Given the description of an element on the screen output the (x, y) to click on. 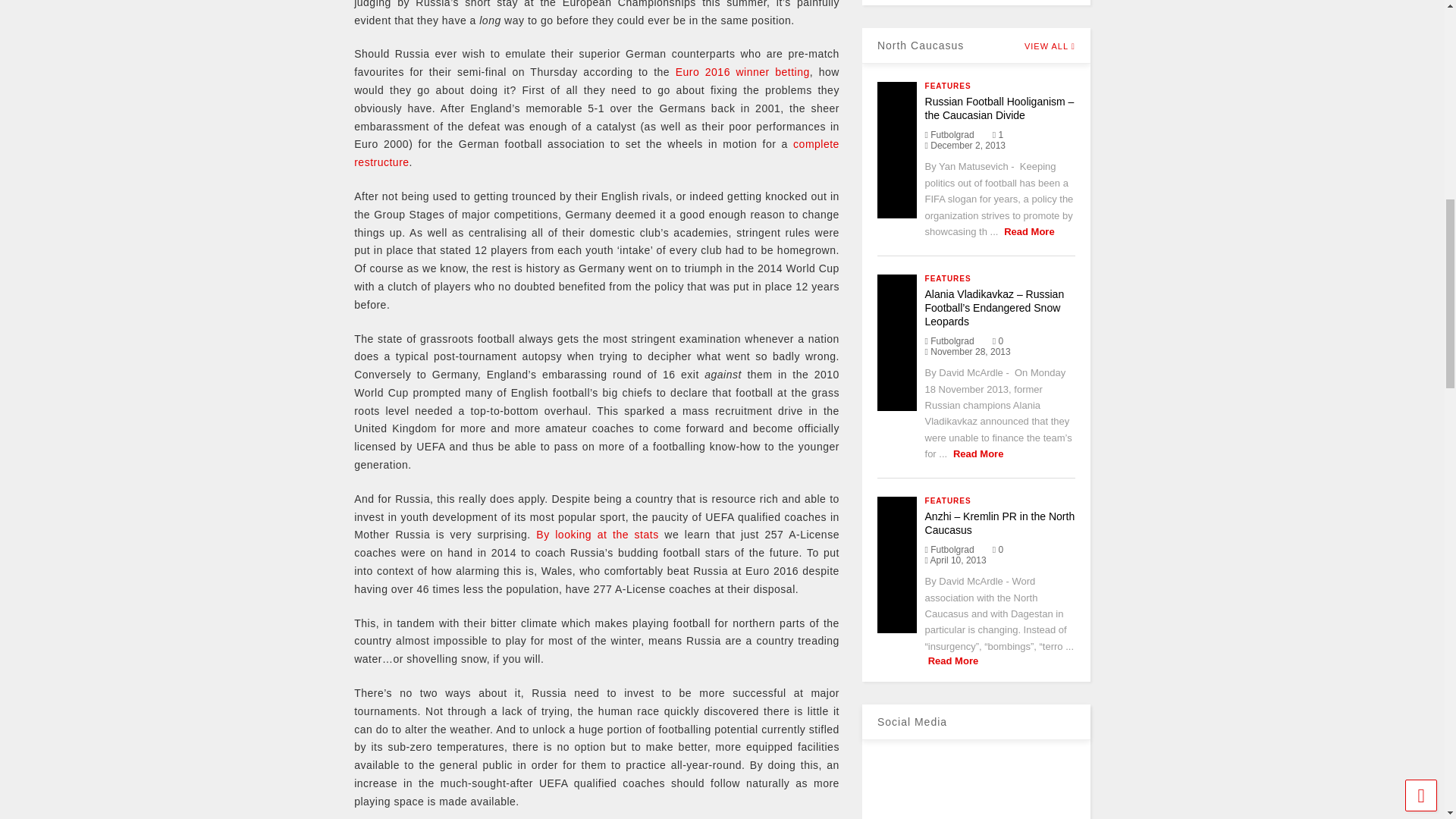
By looking at the stats (596, 534)
complete restructure (596, 153)
Euro 2016 winner betting (742, 71)
